Given the description of an element on the screen output the (x, y) to click on. 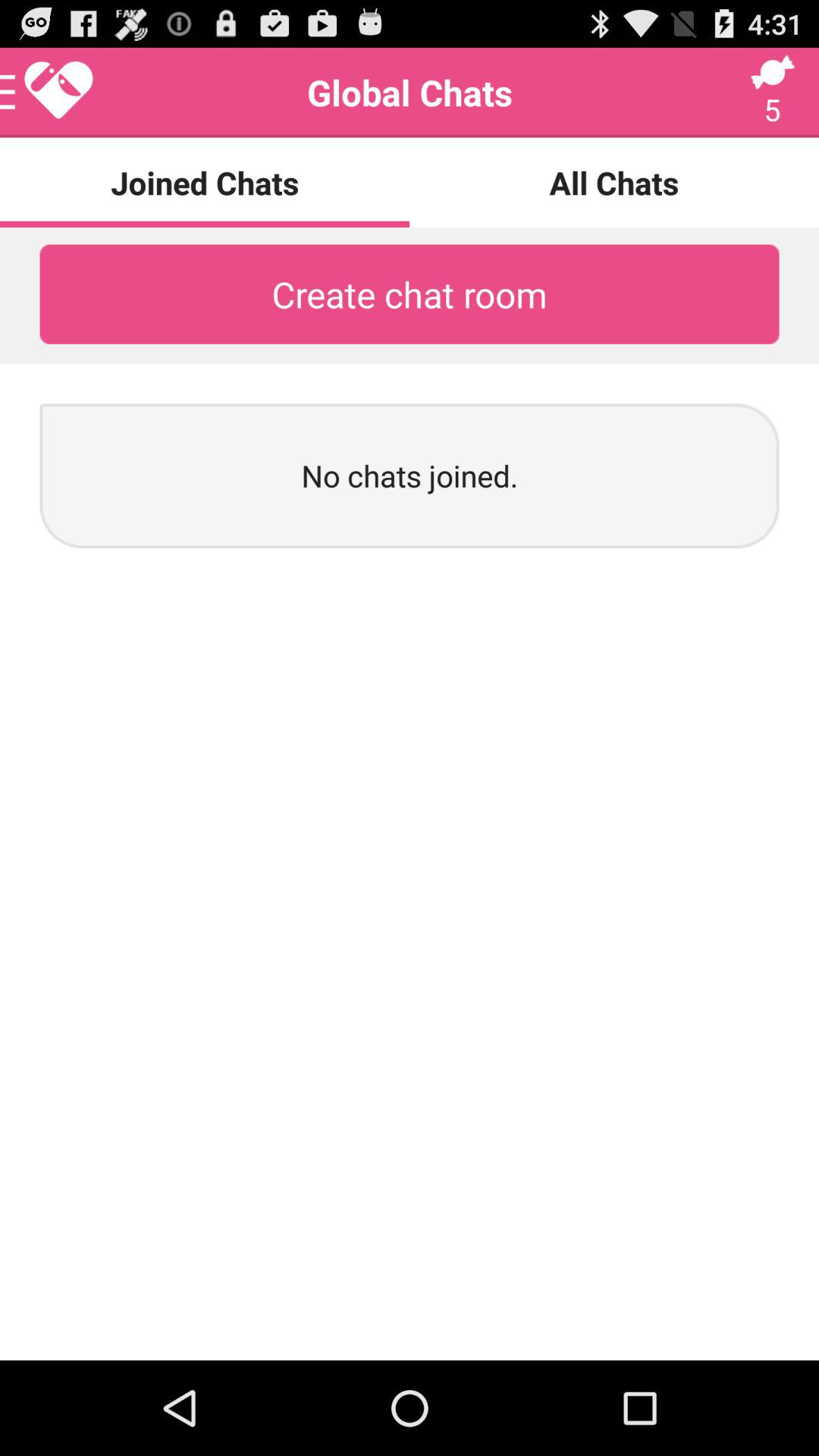
view chat list (47, 92)
